Given the description of an element on the screen output the (x, y) to click on. 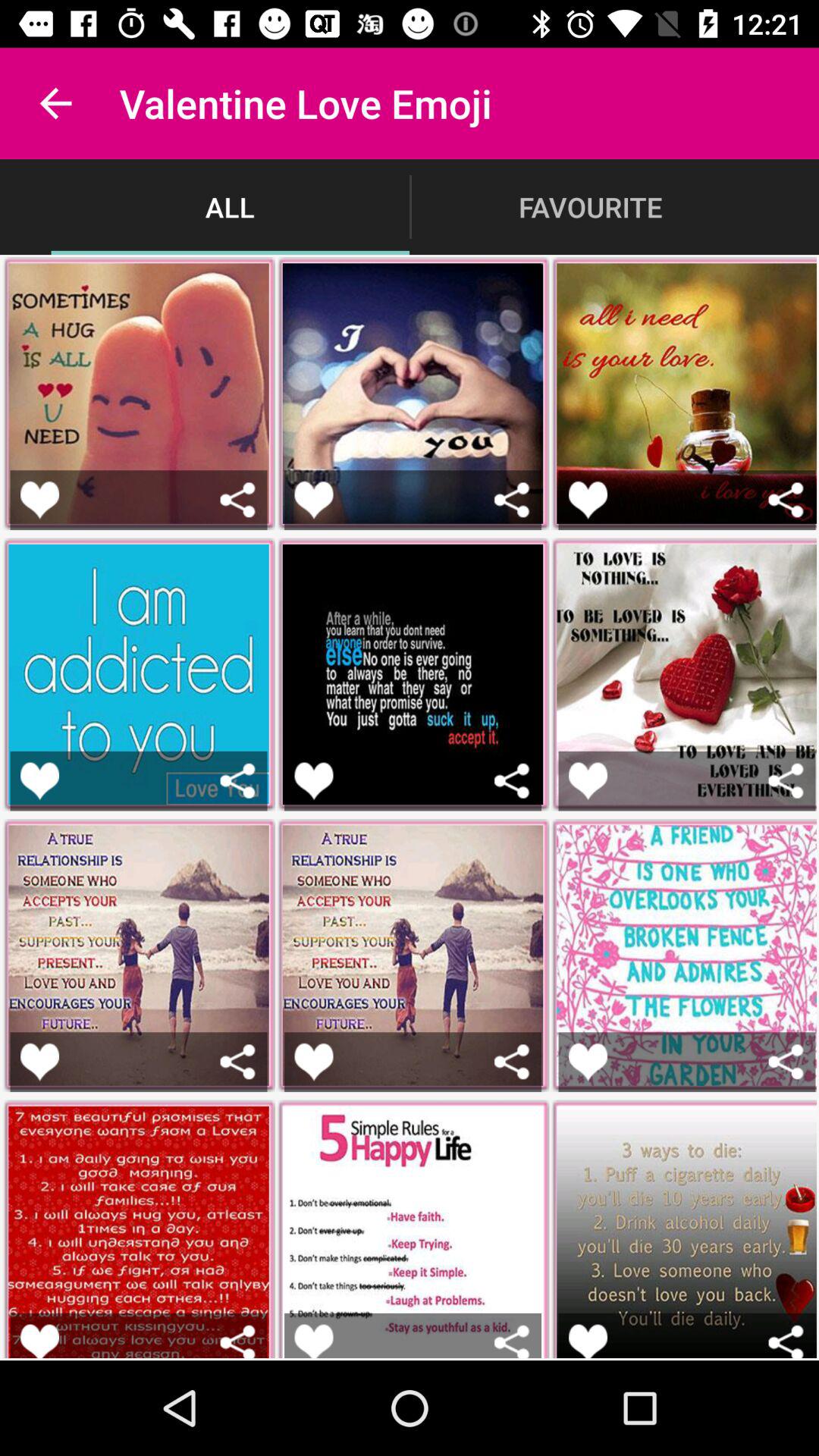
like this image (39, 780)
